Given the description of an element on the screen output the (x, y) to click on. 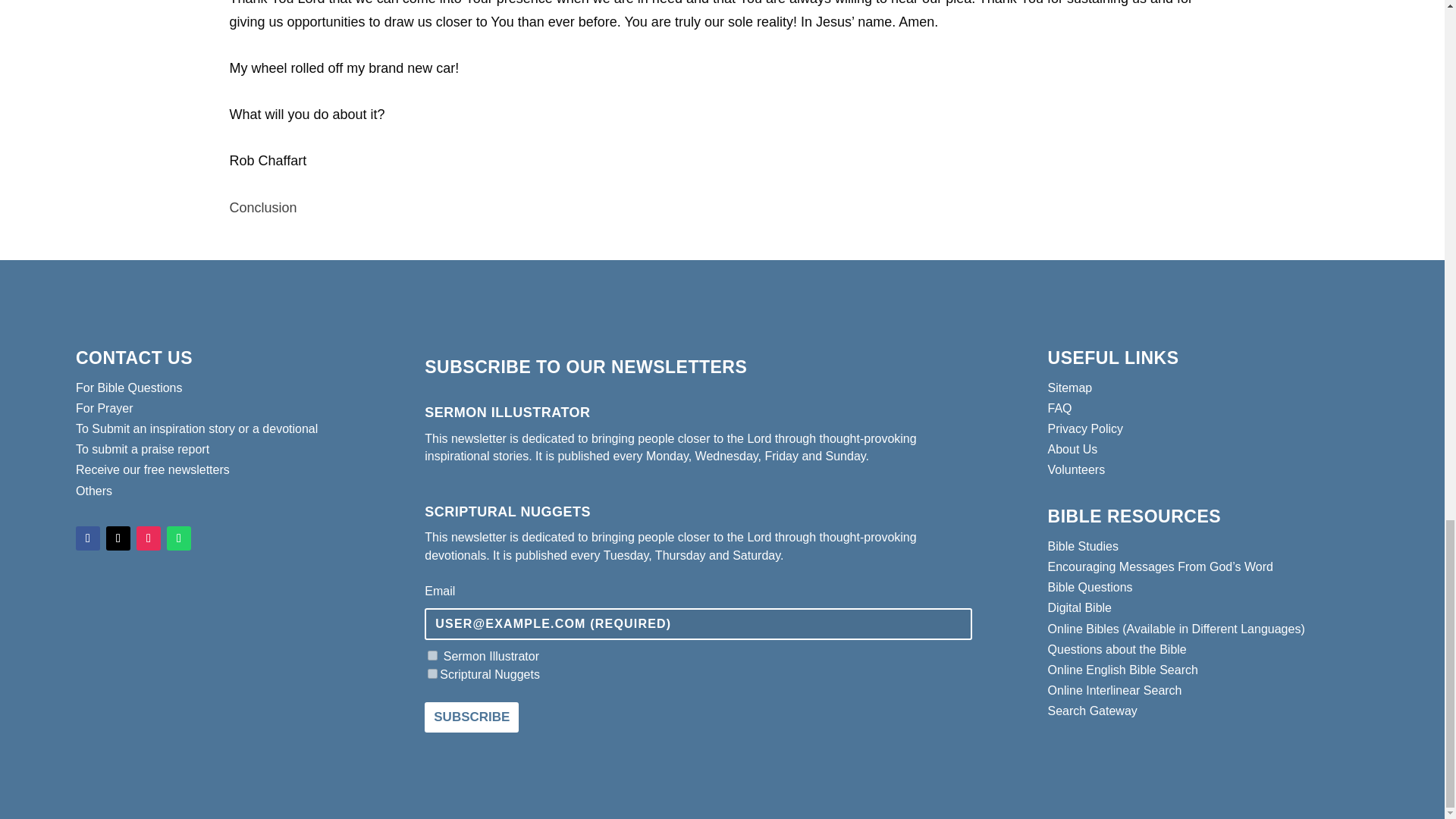
Subscribe (471, 716)
Contact (93, 490)
Contact (104, 408)
Follow on WhatsApp (178, 538)
Contact (129, 387)
Sitemap (1070, 387)
nugget (433, 673)
Follow on Instagram (148, 538)
Contact (196, 428)
Follow on X (118, 538)
